Given the description of an element on the screen output the (x, y) to click on. 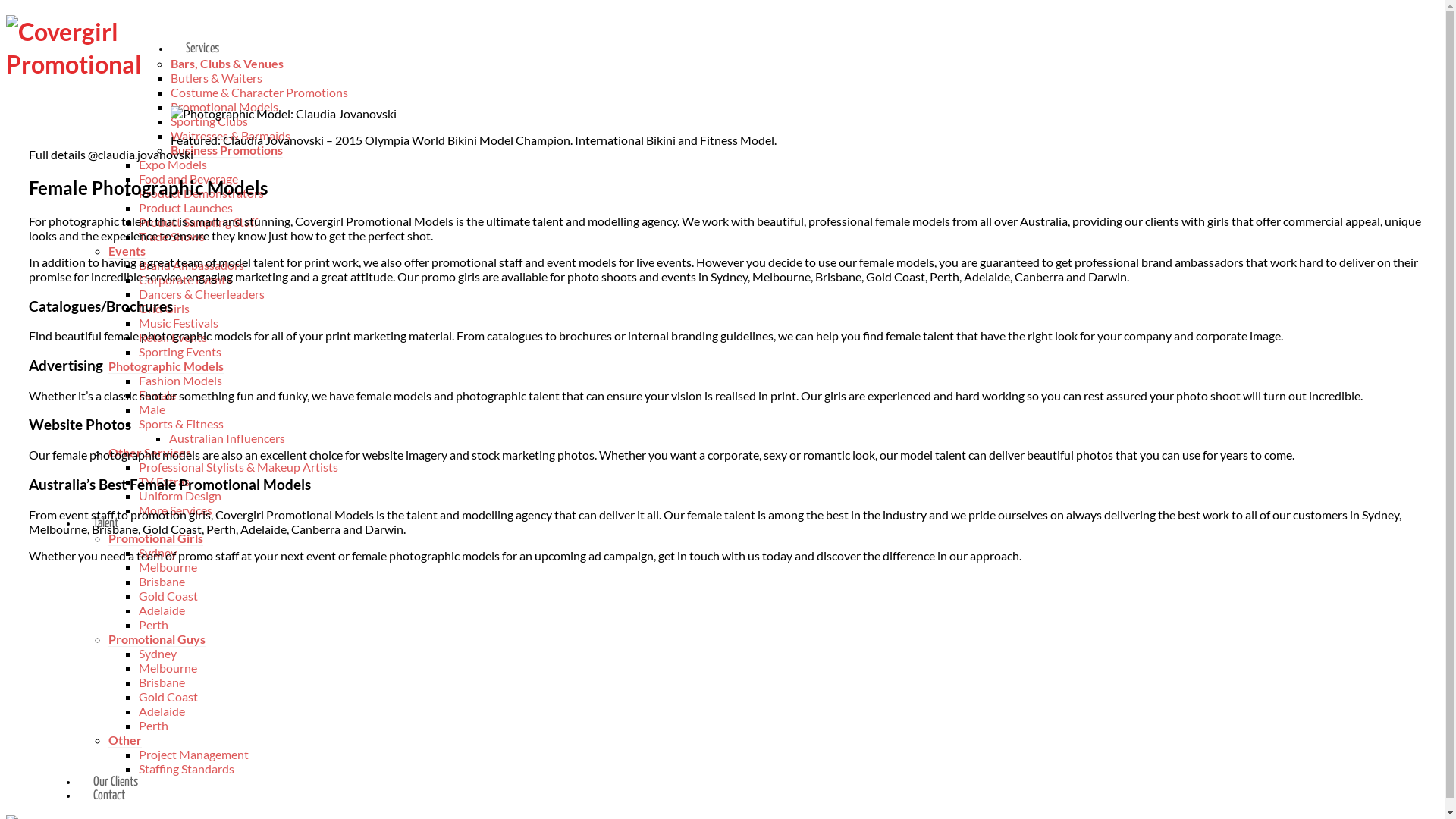
Project Management Element type: text (193, 753)
Gold Coast Element type: text (167, 595)
Perth Element type: text (153, 624)
Corporate Events Element type: text (184, 279)
Gold Coast Element type: text (167, 696)
Product Sampling Staff Element type: text (197, 221)
Staffing Standards Element type: text (186, 768)
Grid Girls Element type: text (163, 308)
Other Element type: text (124, 739)
Talent Element type: text (98, 523)
Sporting Clubs Element type: text (208, 120)
Brand Ambassadors Element type: text (191, 264)
TV Extras Element type: text (163, 480)
Photographic Models Element type: text (165, 365)
Uniform Design Element type: text (179, 495)
Sporting Events Element type: text (179, 351)
Adelaide Element type: text (161, 710)
Adelaide Element type: text (161, 609)
Music Festivals Element type: text (178, 322)
Product Demonstrators Element type: text (200, 192)
Melbourne Element type: text (167, 566)
Promotional Guys Element type: text (156, 638)
Melbourne Element type: text (167, 667)
Dancers & Cheerleaders Element type: text (201, 293)
Brisbane Element type: text (161, 581)
Butlers & Waiters Element type: text (216, 77)
Food and Beverage Element type: text (188, 178)
Sports & Fitness Element type: text (180, 423)
Other Services Element type: text (149, 452)
Business Promotions Element type: text (226, 149)
Events Element type: text (126, 250)
Brisbane Element type: text (161, 681)
Perth Element type: text (153, 725)
Trade Shows Element type: text (171, 236)
Costume & Character Promotions Element type: text (259, 91)
Female Element type: text (156, 394)
Bars, Clubs & Venues Element type: text (226, 63)
Promotional Models Element type: text (224, 106)
Professional Stylists & Makeup Artists Element type: text (238, 466)
Retail Events Element type: text (172, 336)
Services Element type: text (194, 48)
Sydney Element type: text (157, 552)
Australian Influencers Element type: text (227, 437)
Waitresses & Barmaids Element type: text (230, 135)
Sydney Element type: text (157, 653)
Fashion Models Element type: text (180, 380)
Product Launches Element type: text (185, 207)
Male Element type: text (151, 408)
Contact Element type: text (101, 795)
Expo Models Element type: text (172, 163)
More Services Element type: text (175, 509)
Our Clients Element type: text (108, 781)
Promotional Girls Element type: text (155, 538)
